Given the description of an element on the screen output the (x, y) to click on. 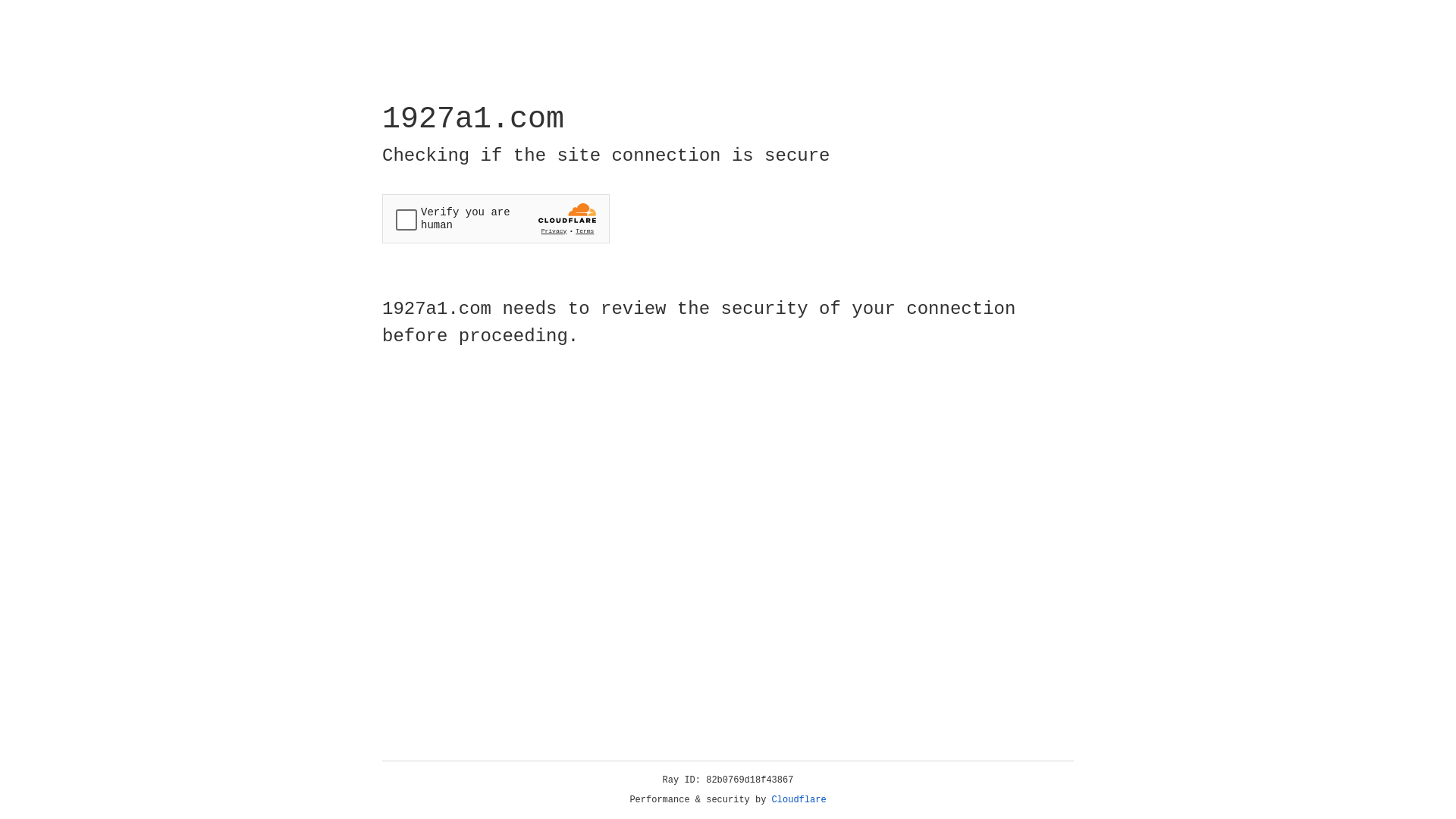
Widget containing a Cloudflare security challenge Element type: hover (495, 218)
Cloudflare Element type: text (798, 799)
